Given the description of an element on the screen output the (x, y) to click on. 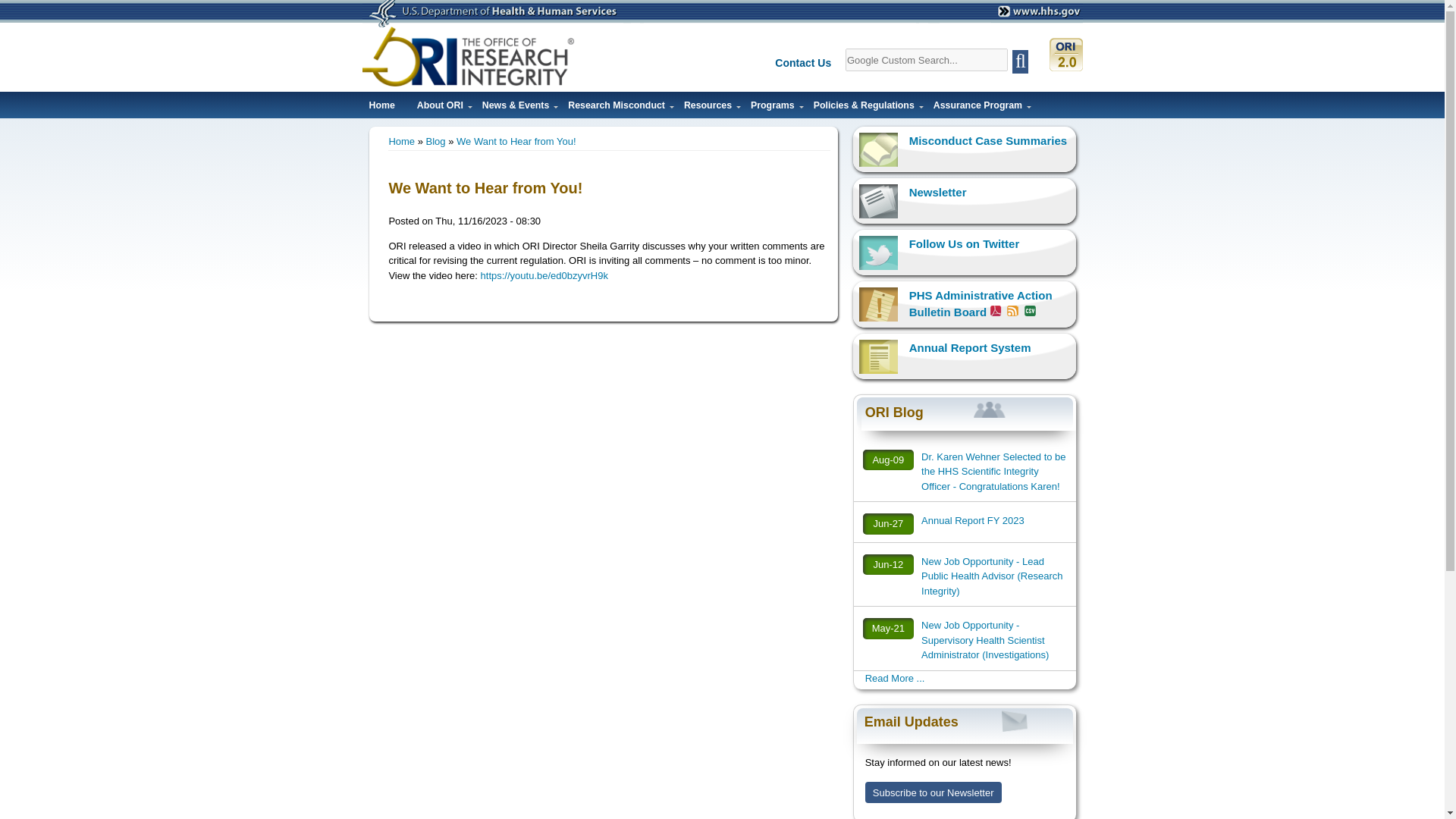
Contact Us (808, 63)
Home (381, 108)
Home (468, 56)
Thursday, November 16, 2023 - 08:30 (487, 220)
RSS (1012, 310)
PDF (996, 310)
CSV (1028, 310)
